Given the description of an element on the screen output the (x, y) to click on. 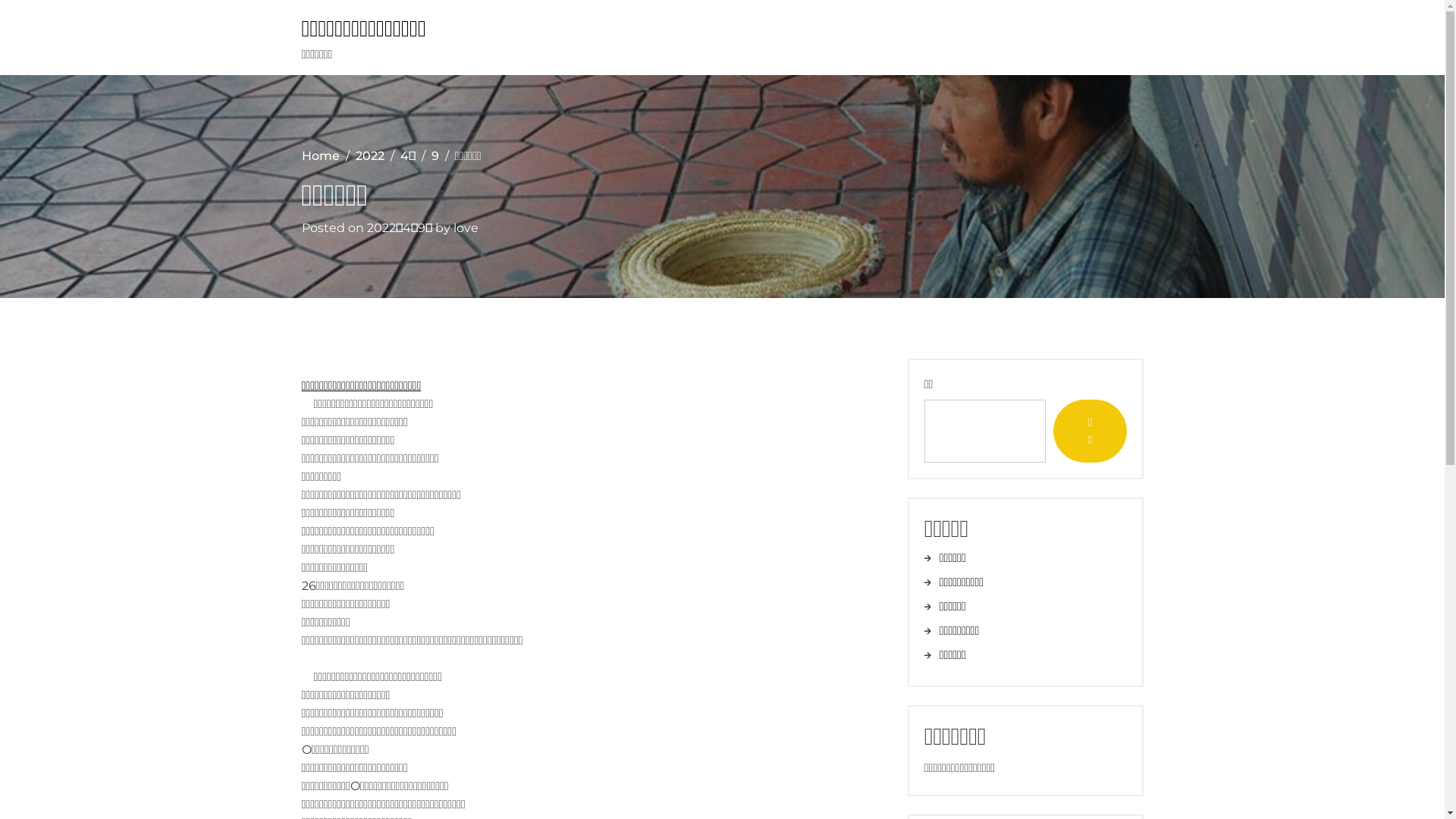
Home Element type: text (320, 156)
2022 Element type: text (368, 156)
9 Element type: text (434, 156)
love Element type: text (465, 228)
